Given the description of an element on the screen output the (x, y) to click on. 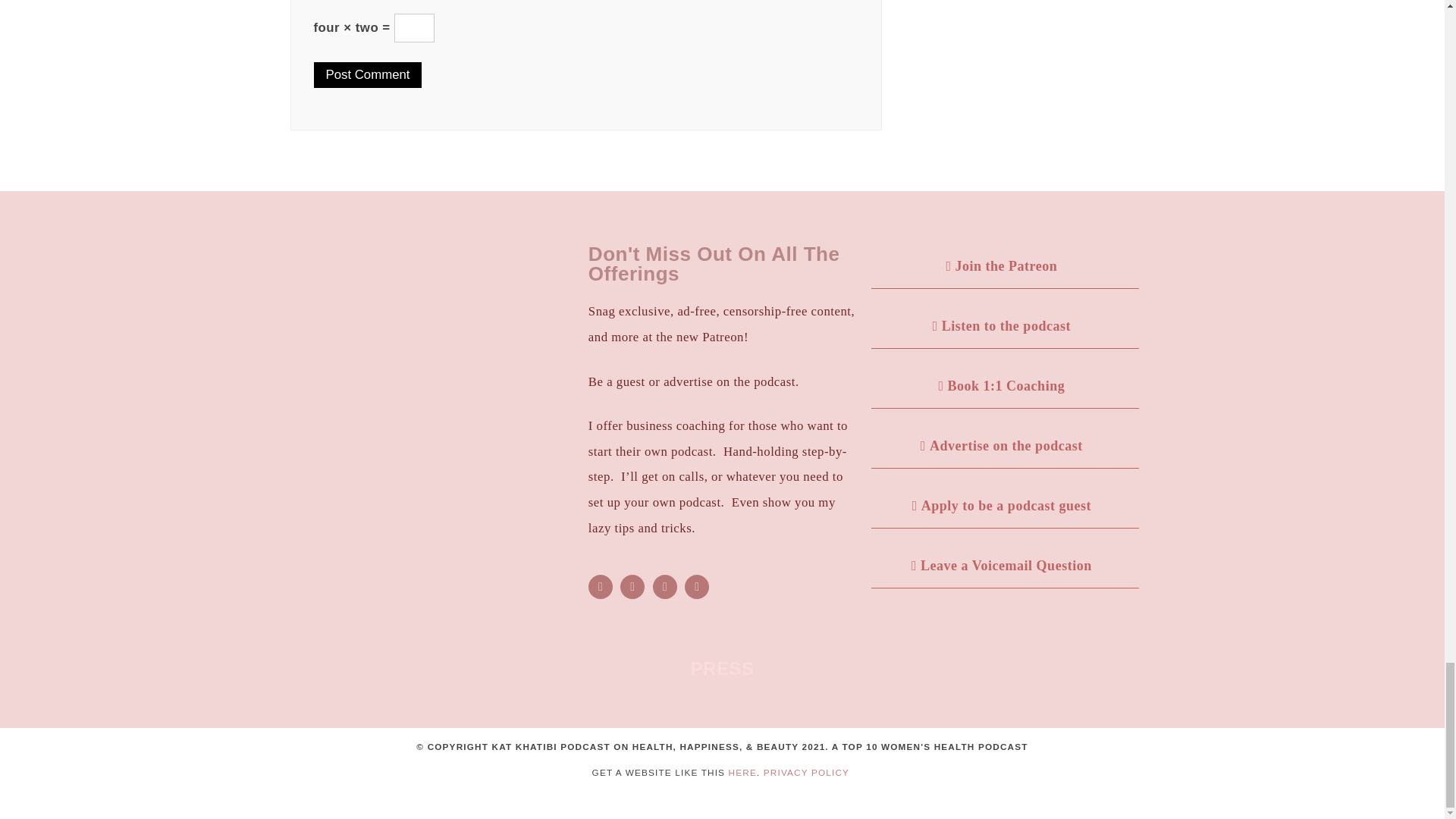
Post Comment (368, 75)
